Given the description of an element on the screen output the (x, y) to click on. 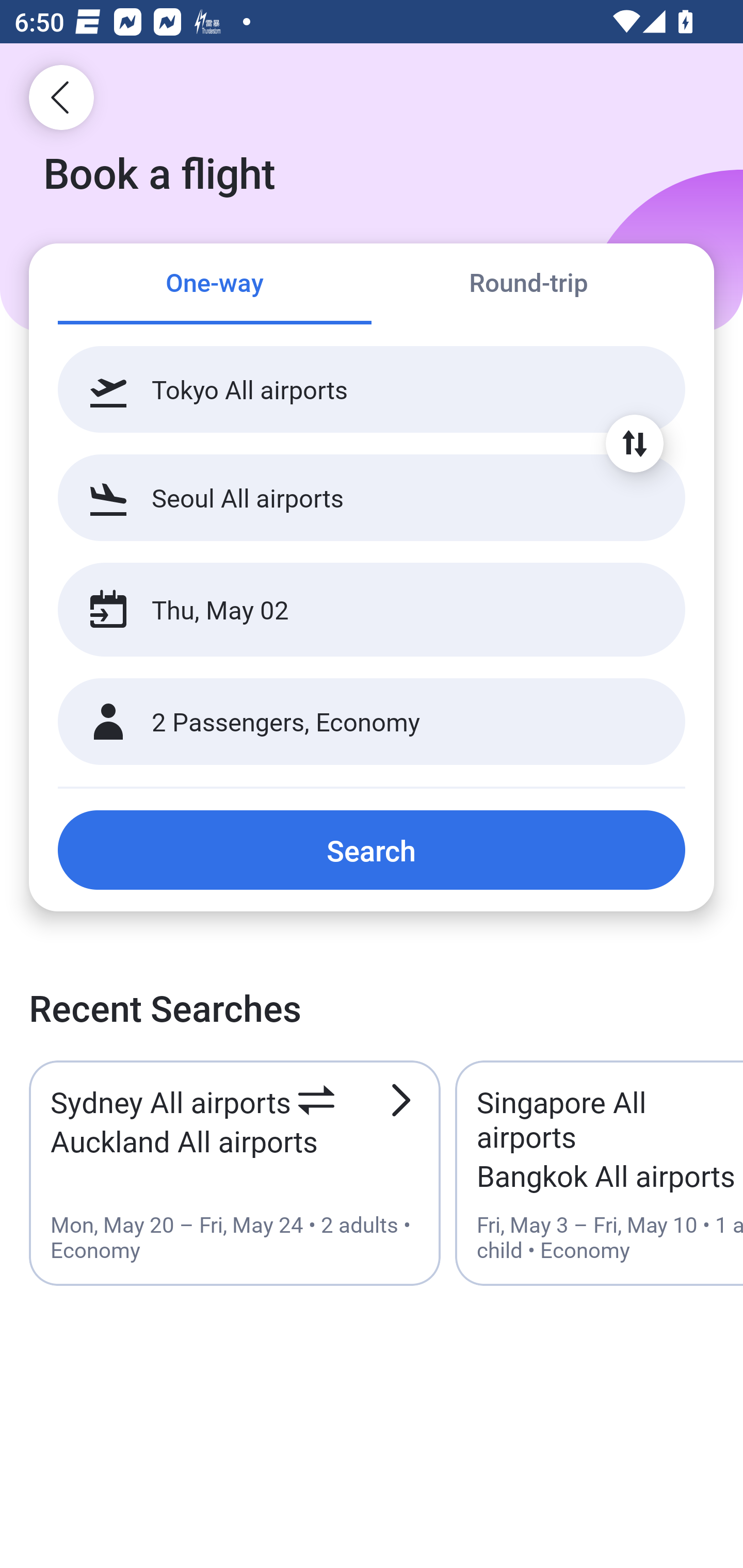
Round-trip (528, 284)
Tokyo All airports (371, 389)
Seoul All airports (371, 497)
Thu, May 02 (349, 609)
2 Passengers, Economy (371, 721)
Search (371, 849)
